Given the description of an element on the screen output the (x, y) to click on. 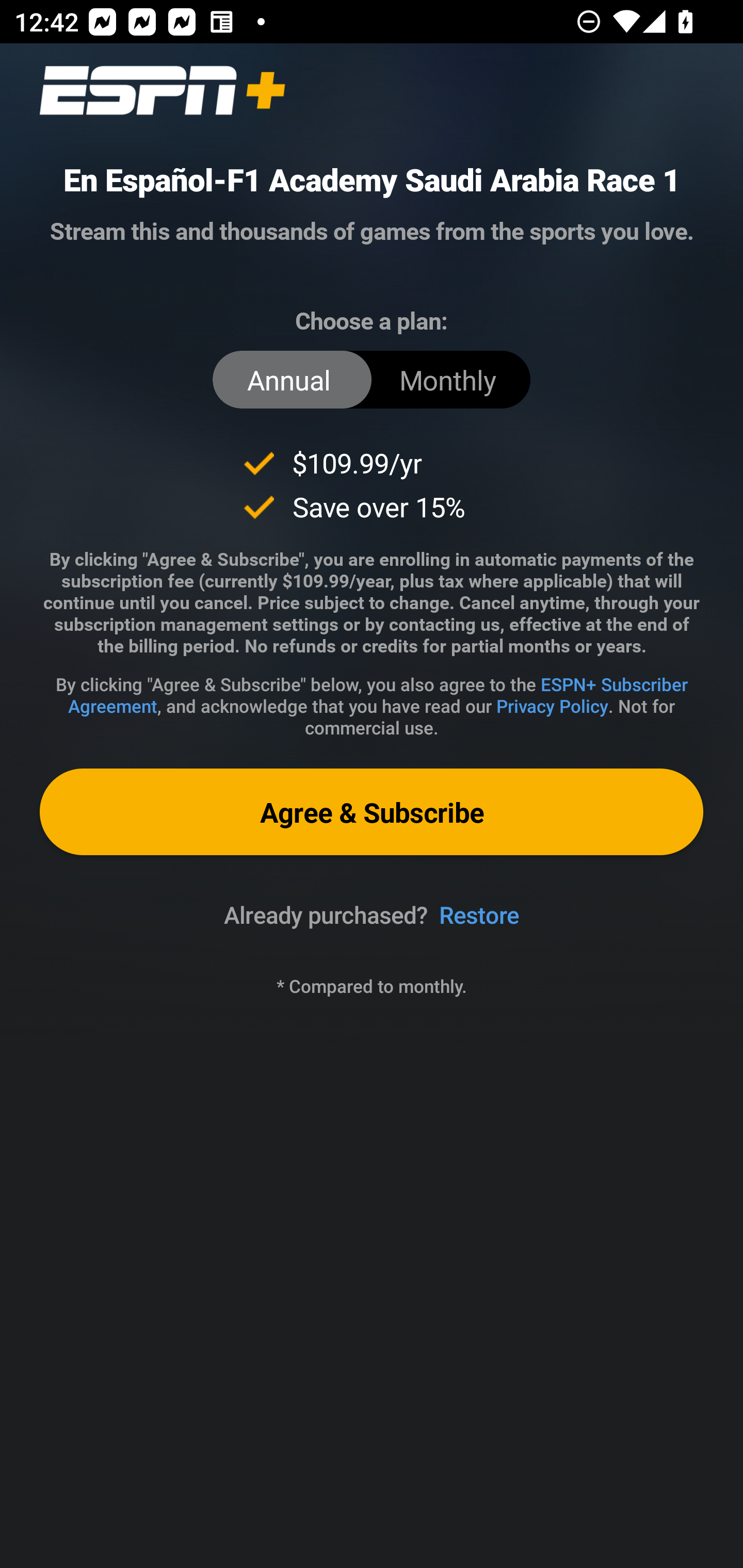
Agree & Subscribe (371, 811)
